Given the description of an element on the screen output the (x, y) to click on. 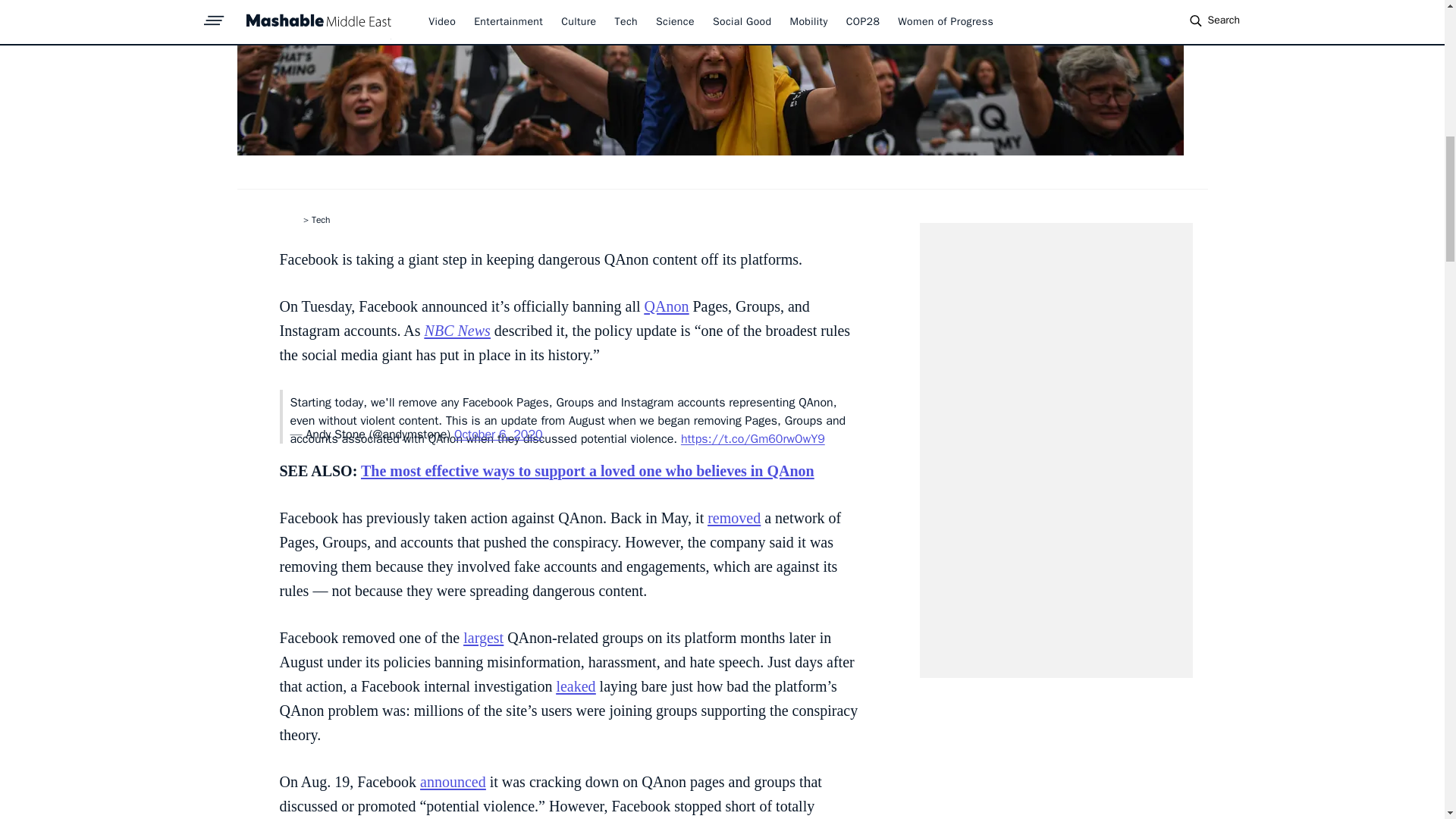
NBC News (457, 330)
announced (453, 781)
removed (733, 517)
QAnon (666, 306)
largest (483, 637)
leaked (575, 686)
October 6, 2020 (498, 434)
